Given the description of an element on the screen output the (x, y) to click on. 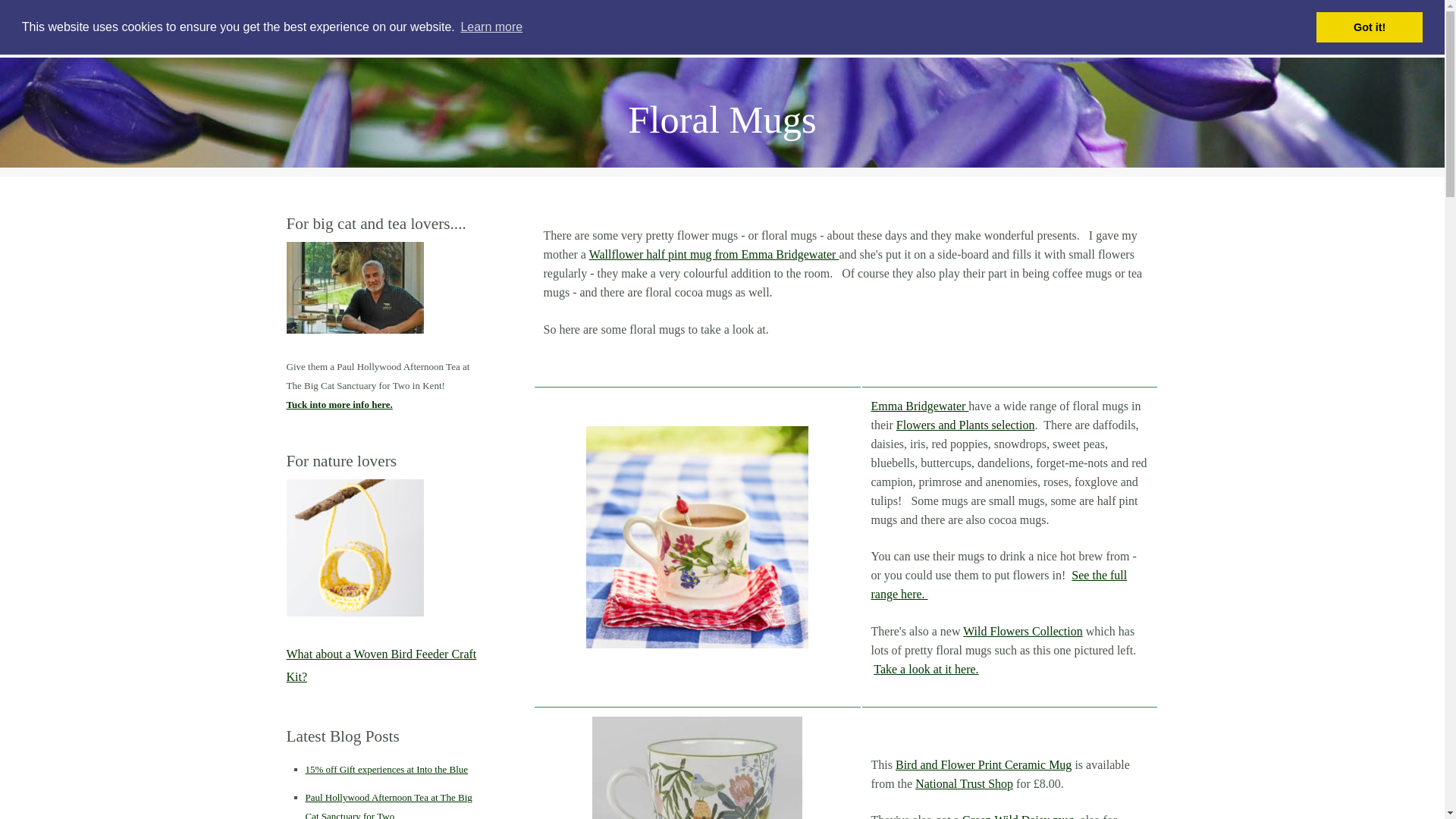
Home (304, 28)
Emma Bridgewater has a really pretty Wild Flowers Collection (697, 536)
Giving Gifts (132, 26)
Garden Experiences (398, 28)
Got it! (1369, 27)
Give a Tree (506, 28)
Learn more (491, 26)
Take a look here (354, 547)
